Given the description of an element on the screen output the (x, y) to click on. 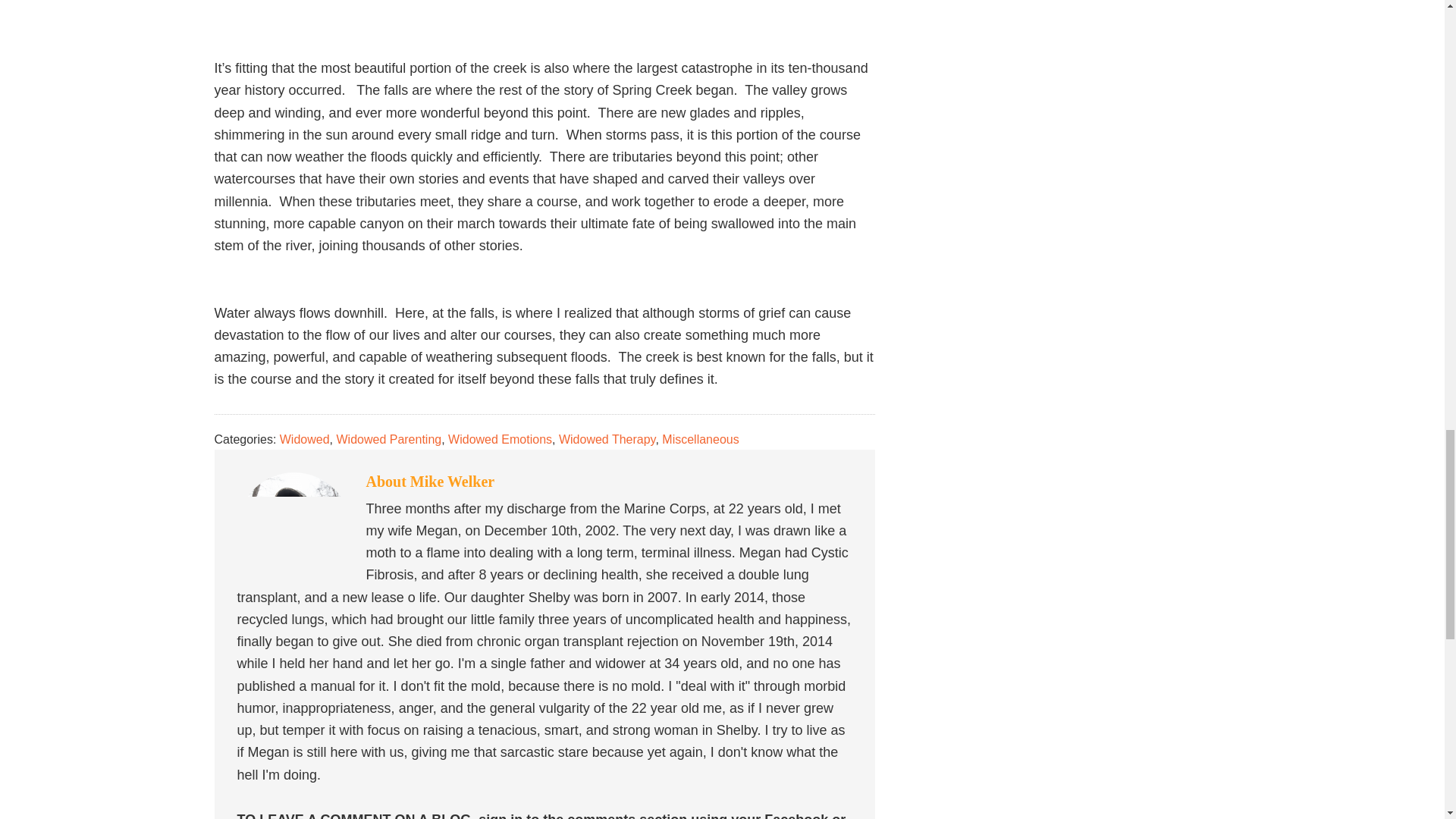
Widowed Parenting (388, 438)
Miscellaneous (700, 438)
Widowed Emotions (499, 438)
Widowed Therapy (607, 438)
Widowed (304, 438)
